Given the description of an element on the screen output the (x, y) to click on. 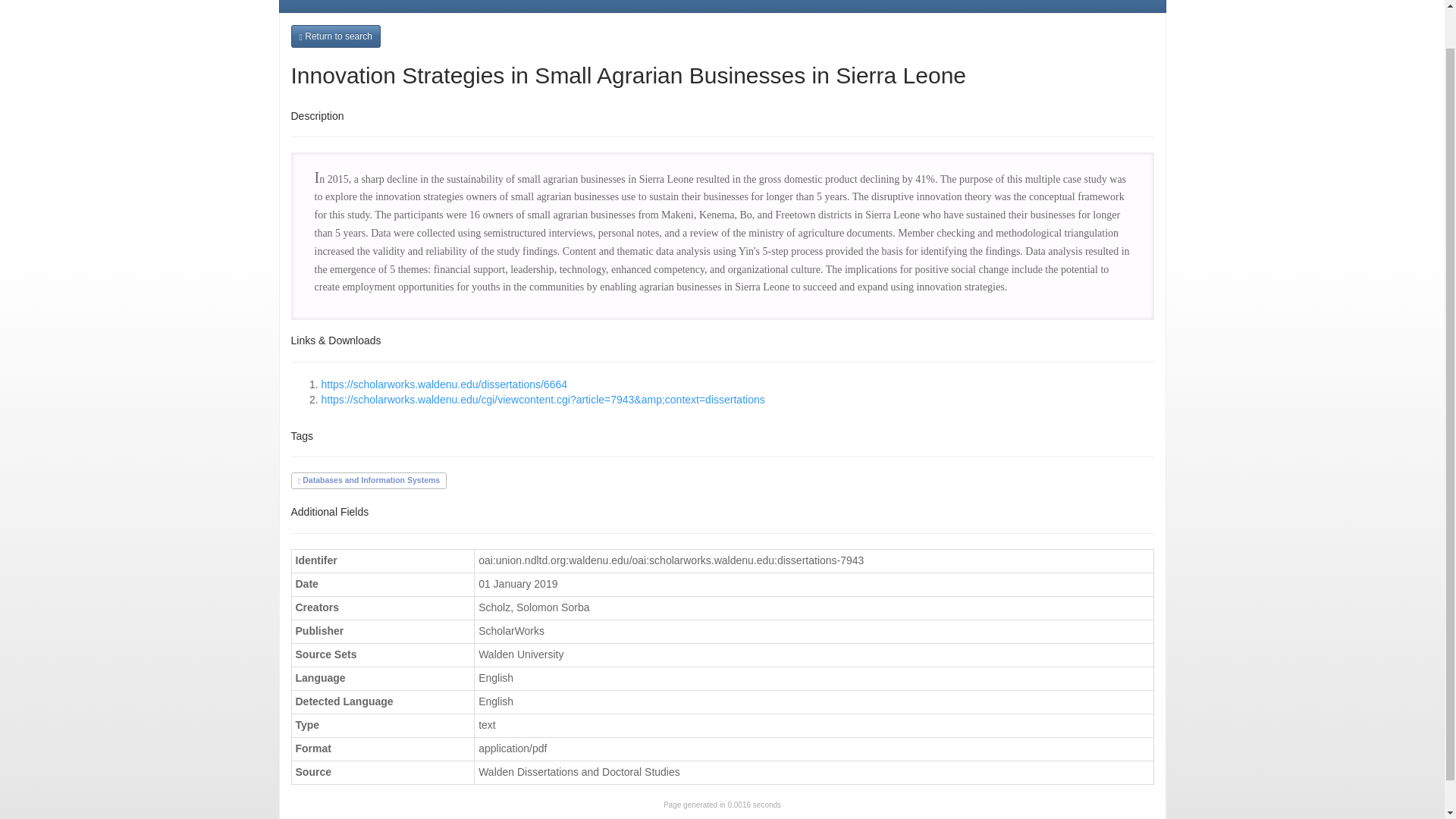
Databases and Information Systems (368, 479)
NDLTD Global ETD Search (389, 6)
New Search (528, 6)
Return to search (335, 36)
